Given the description of an element on the screen output the (x, y) to click on. 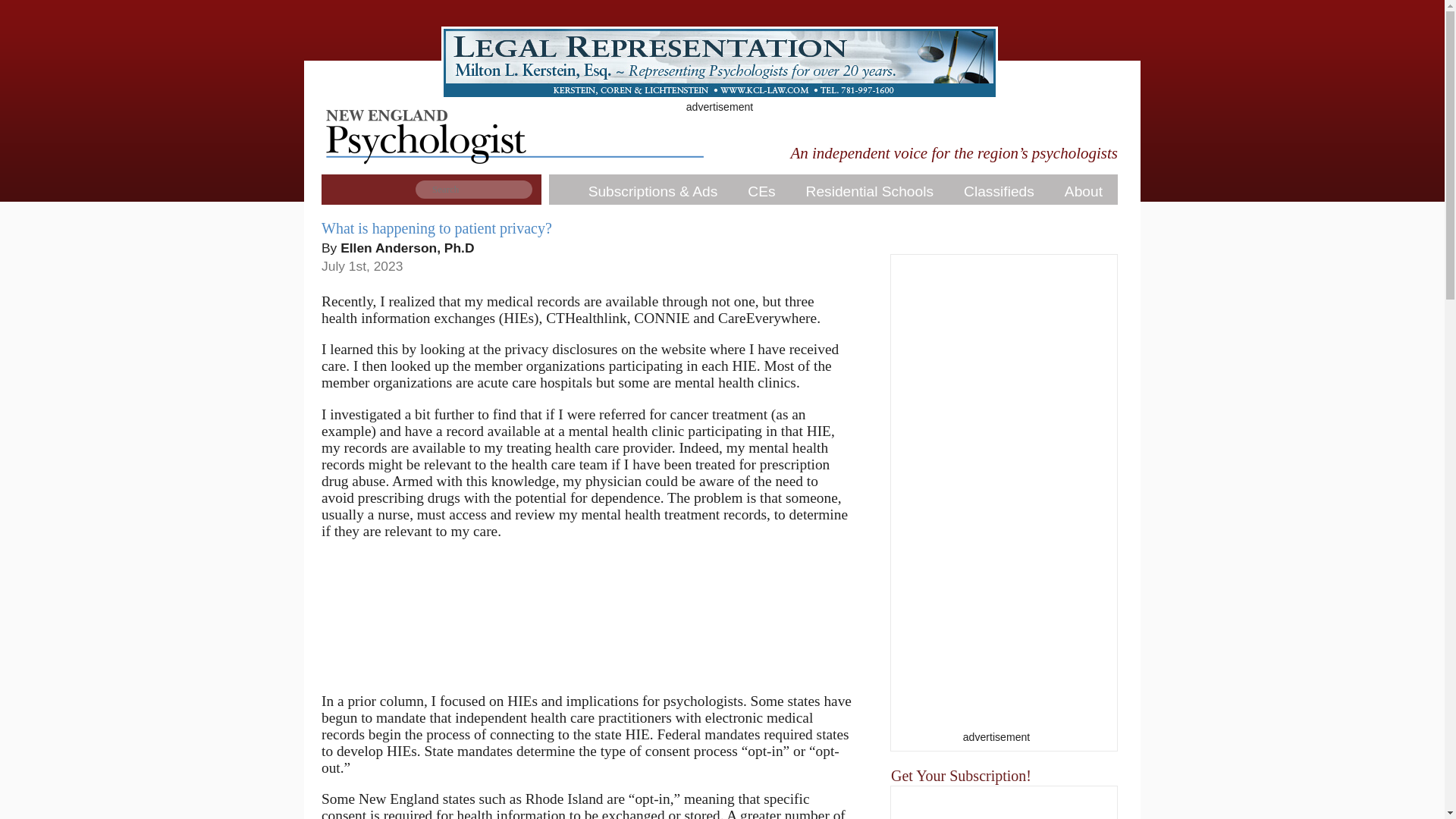
Residential Schools (869, 191)
Classifieds (999, 191)
Advertisement (586, 620)
About (1083, 191)
Back to homepage. (513, 174)
What is happening to patient privacy? (436, 228)
CEs (761, 191)
Advertisement (996, 503)
